Given the description of an element on the screen output the (x, y) to click on. 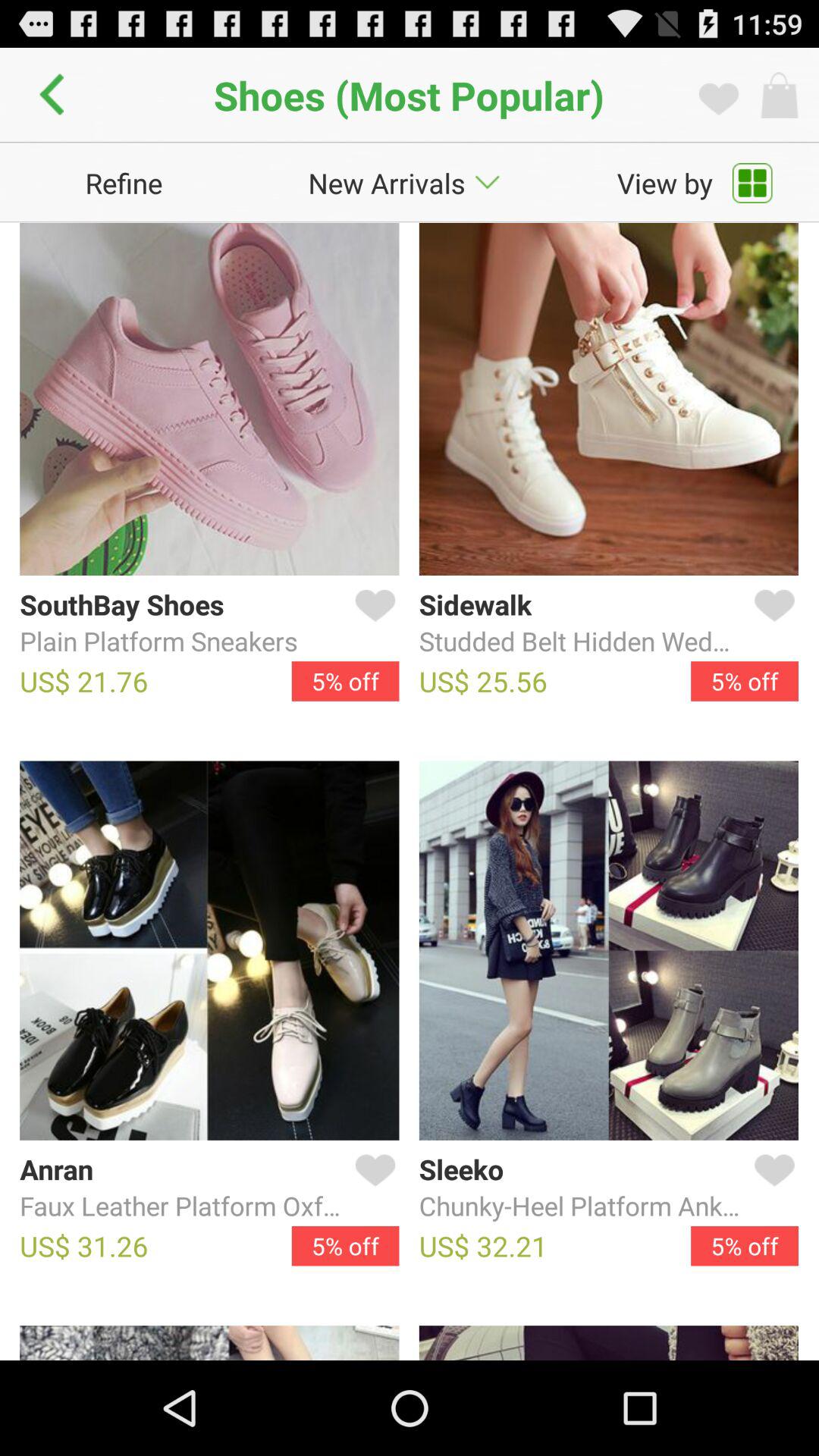
add to favorites (771, 623)
